Given the description of an element on the screen output the (x, y) to click on. 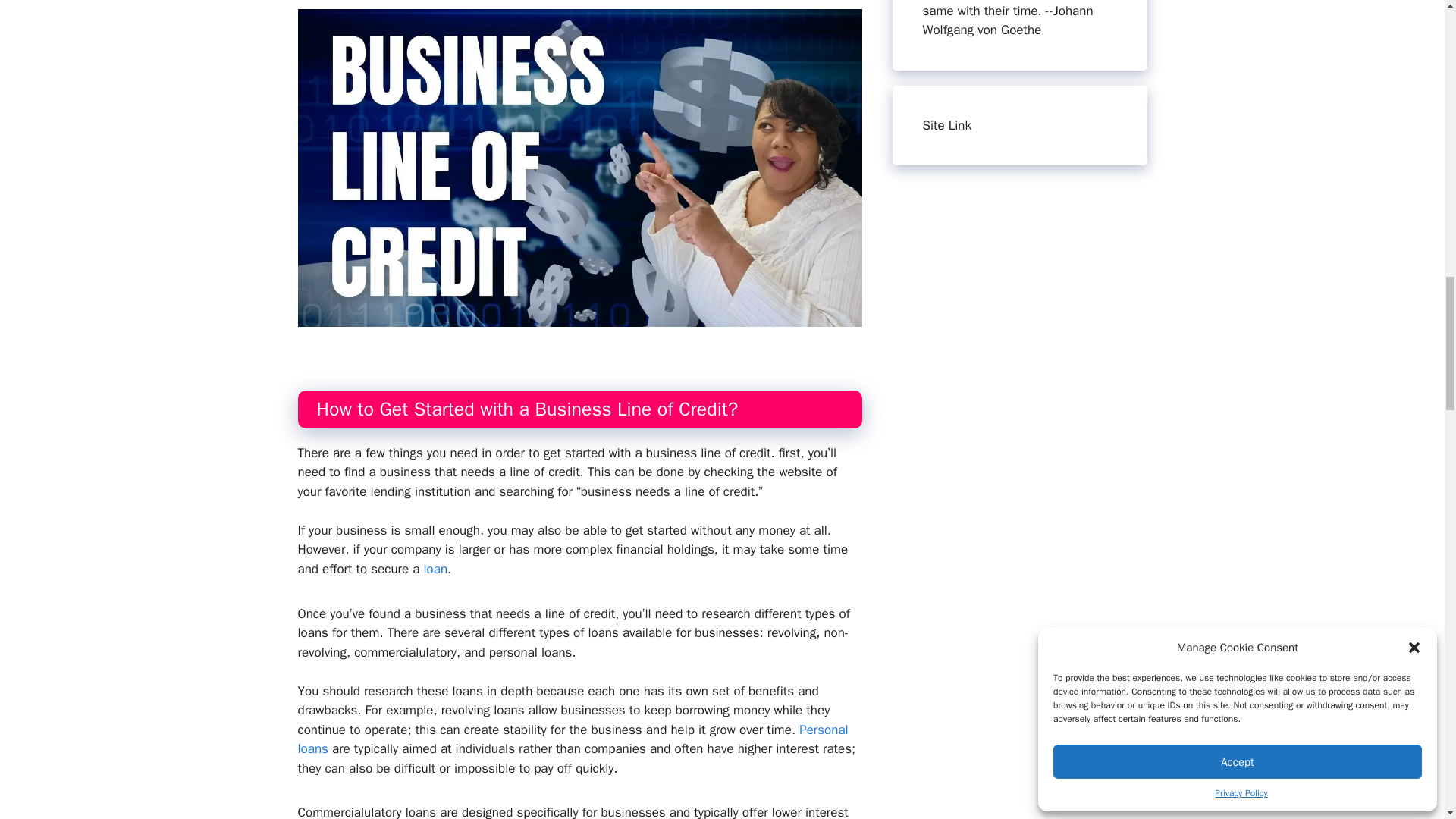
Personal loans (572, 739)
loan (435, 569)
